Given the description of an element on the screen output the (x, y) to click on. 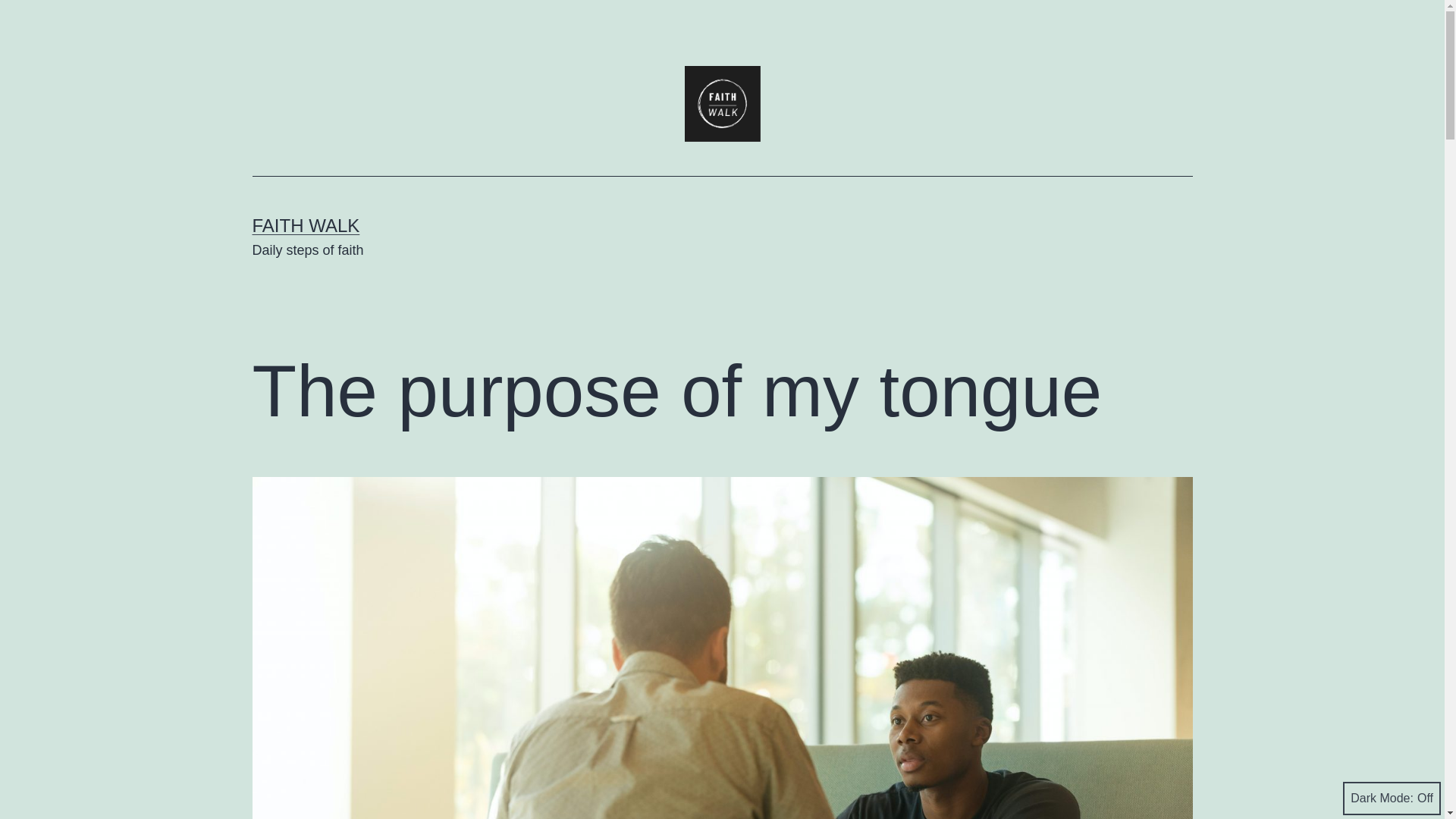
Dark Mode: (1391, 798)
FAITH WALK (305, 225)
